Given the description of an element on the screen output the (x, y) to click on. 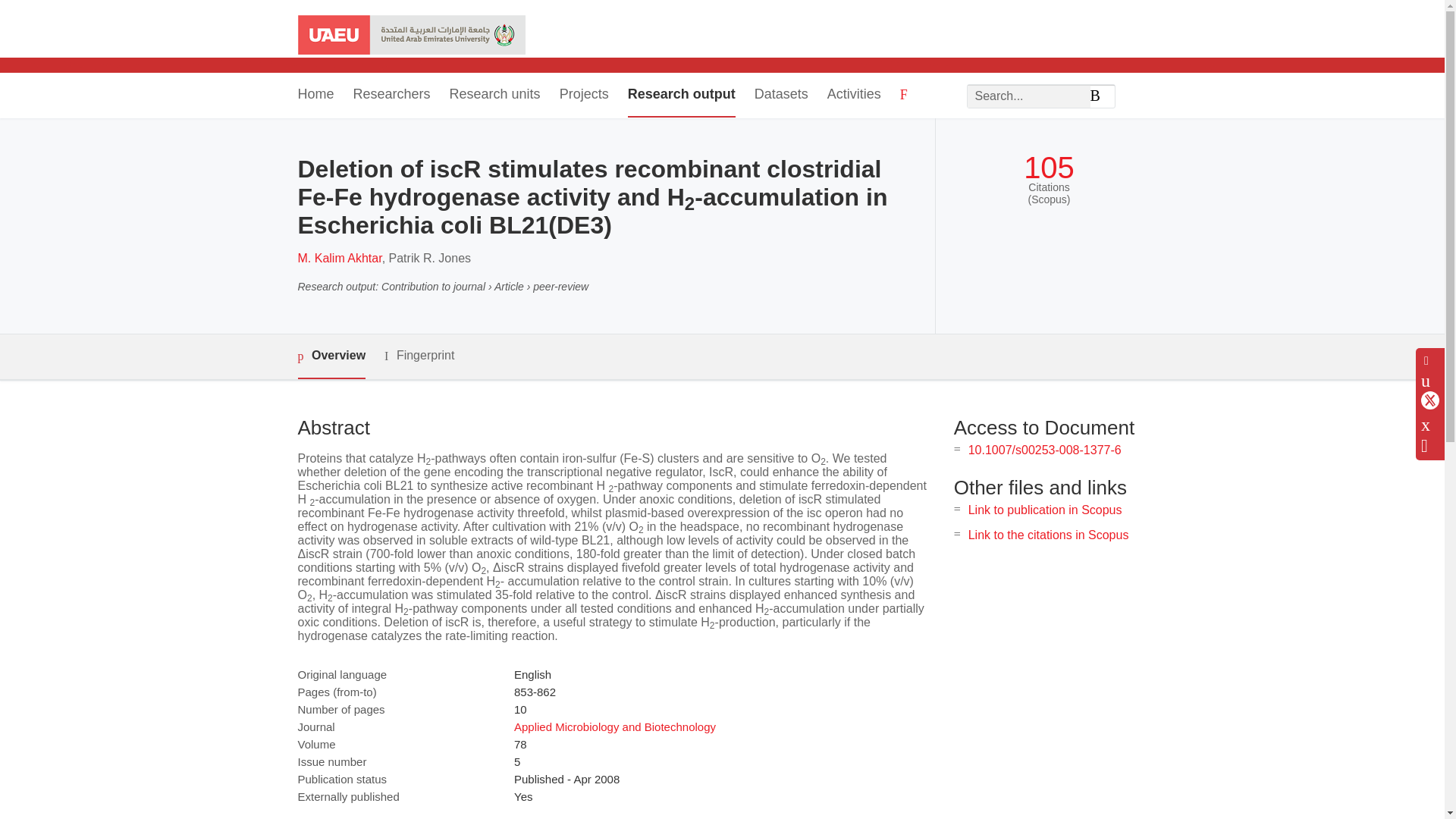
Datasets (781, 94)
Projects (583, 94)
Research units (494, 94)
Research output (681, 94)
United Arab Emirates University Home (410, 36)
Link to publication in Scopus (1045, 509)
Applied Microbiology and Biotechnology (614, 726)
Activities (853, 94)
105 (1048, 167)
Overview (331, 356)
M. Kalim Akhtar (339, 257)
Researchers (391, 94)
Fingerprint (419, 355)
Link to the citations in Scopus (1048, 534)
